Given the description of an element on the screen output the (x, y) to click on. 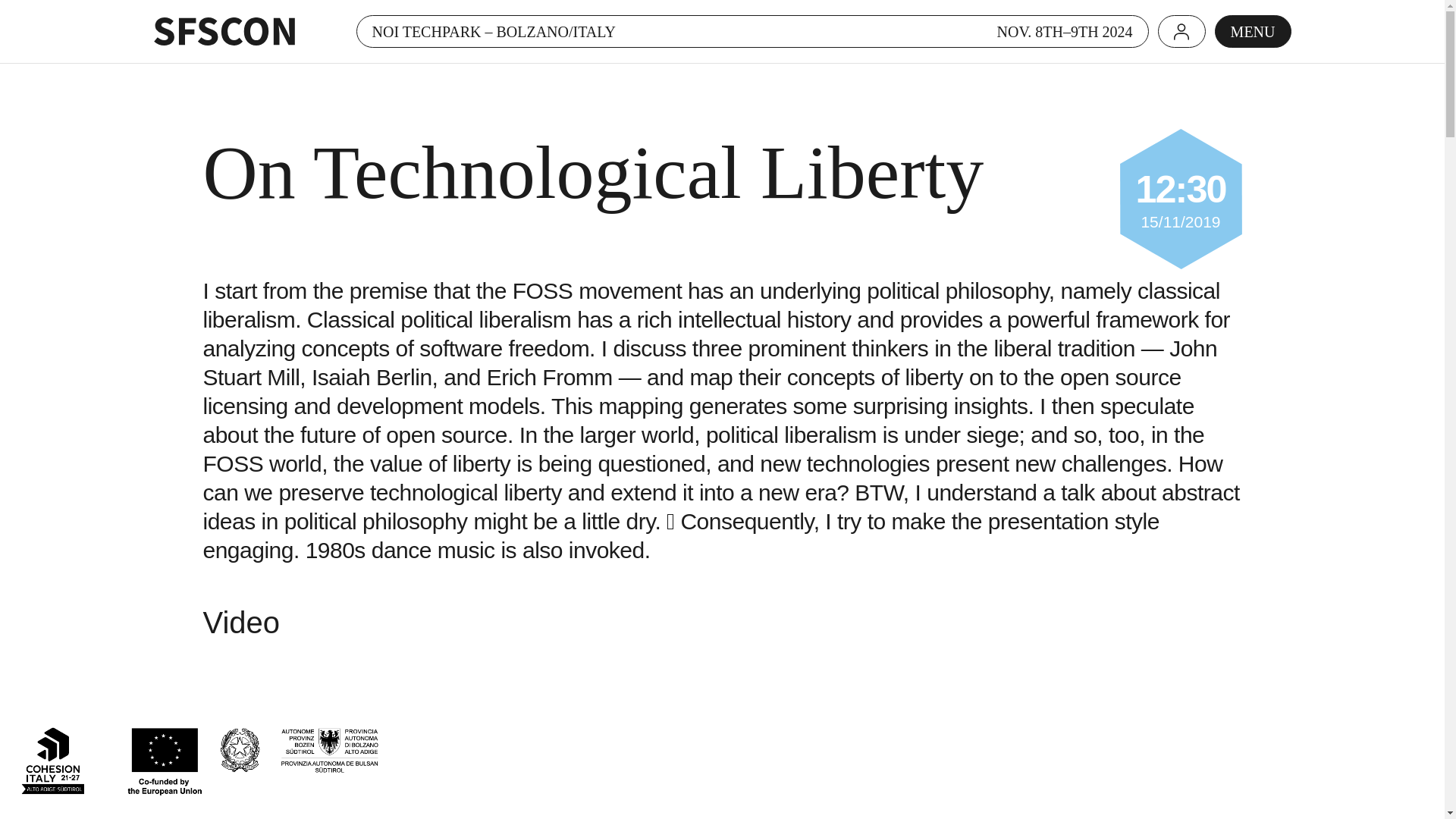
RESERVED AREA (1181, 31)
SFSCON - Free Software Conference (223, 31)
